Given the description of an element on the screen output the (x, y) to click on. 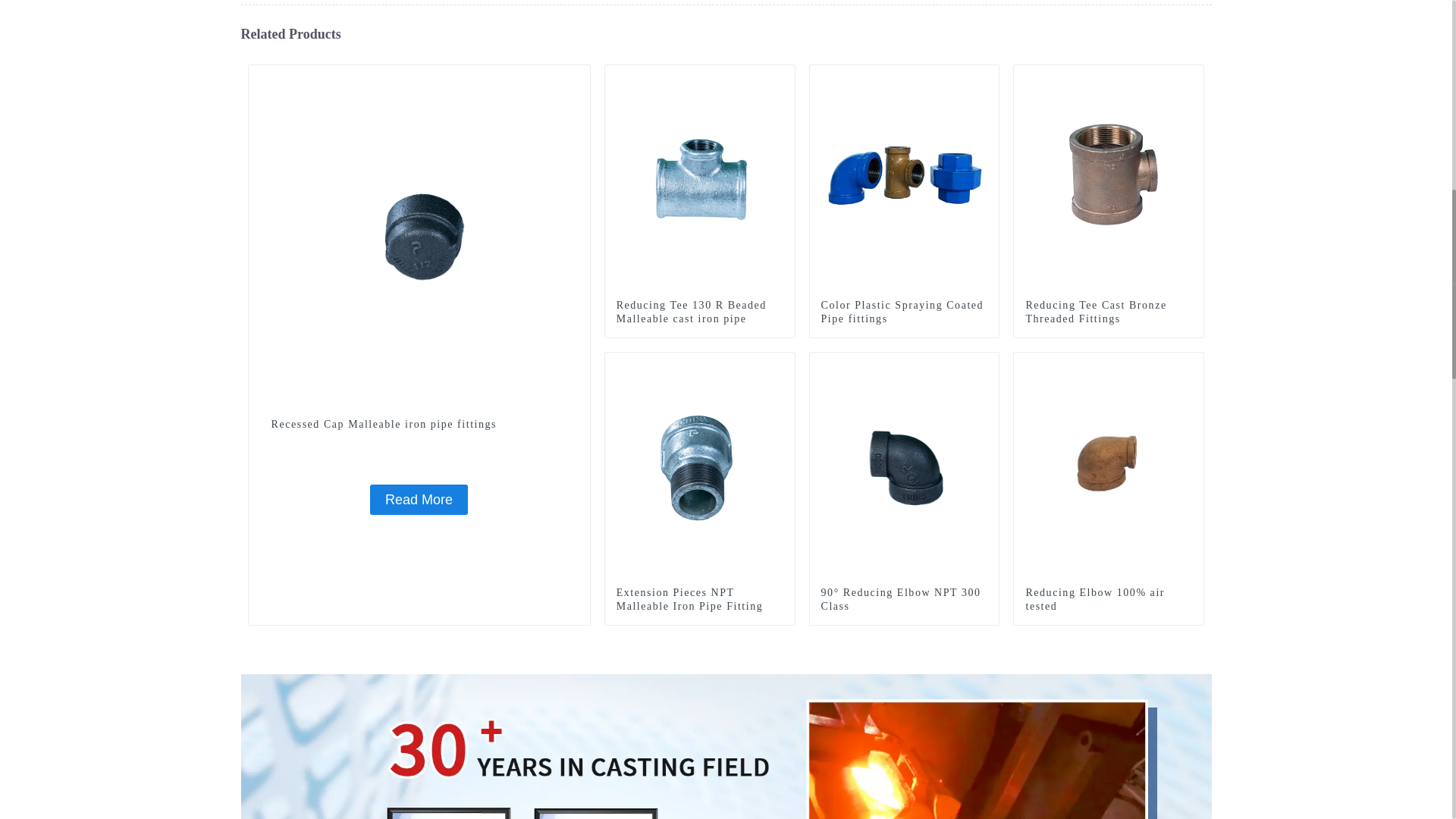
Extension Pieces NPT Malleable Iron Pipe Fitting (699, 599)
Reducing Tee Cast Bronze Threaded Fittings (1108, 311)
Reducing Tee Cast Bronze Threaded Fittings (1108, 311)
Read More (418, 499)
Reducing Tee 130 R Beaded Malleable cast iron pipe fittings (699, 178)
Recessed Cap Malleable iron pipe fittings   (418, 234)
Reducing Tee Cast Bronze Threaded Fittings (1108, 178)
72-1 (578, 76)
63-1 (986, 363)
Reducing Tee 130 R Beaded Malleable cast iron pipe fittings (699, 318)
Recessed Cap Malleable iron pipe fittings (418, 424)
Color Plastic Spraying Coated Pipe fittings (904, 311)
90-1 (1192, 76)
Extension Pieces  NPT Malleable Iron Pipe Fitting  (699, 599)
Extension Pieces  NPT Malleable Iron Pipe Fitting  (699, 466)
